Given the description of an element on the screen output the (x, y) to click on. 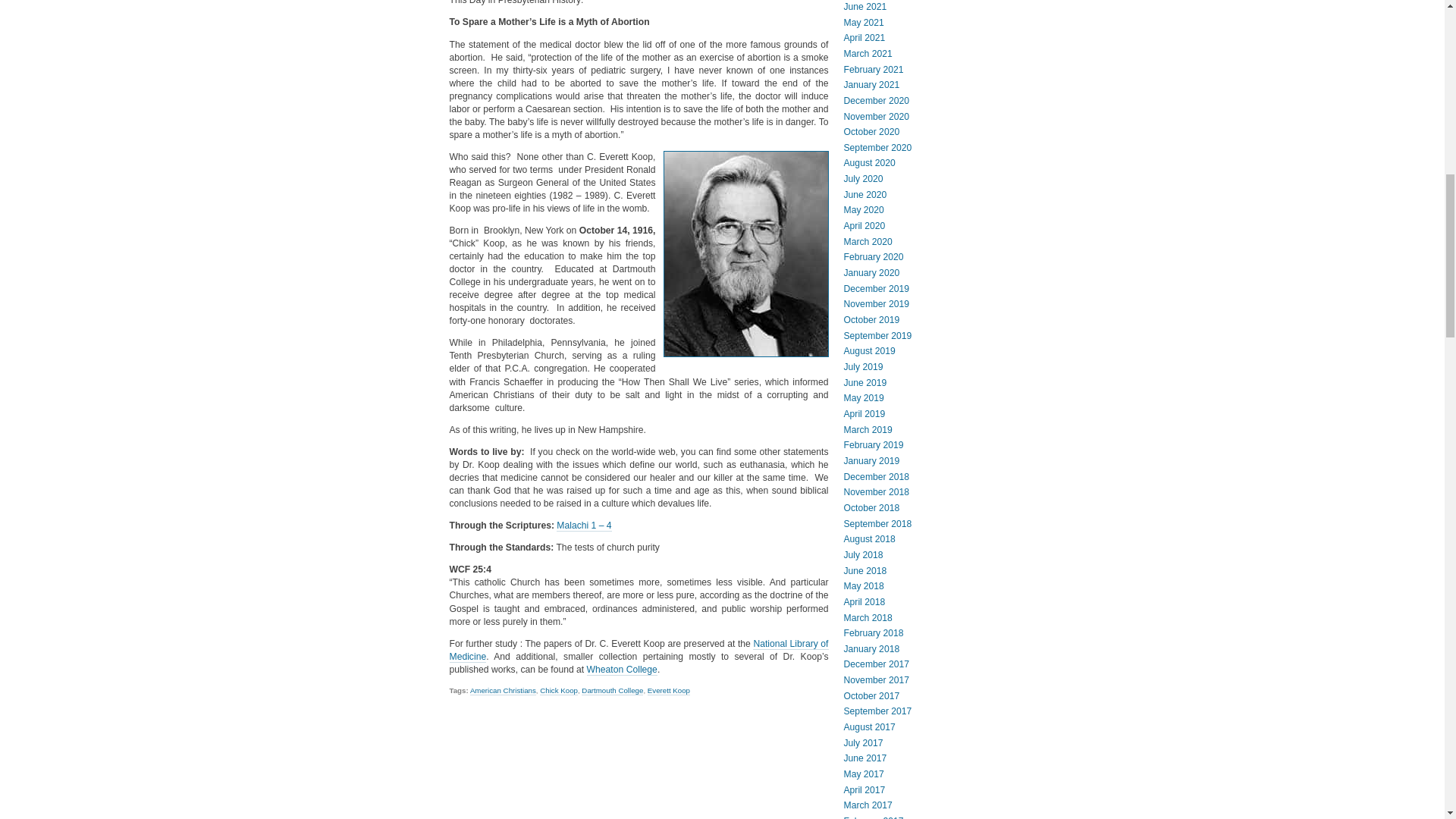
The C. Everett Koop Papers (638, 650)
Dartmouth College (611, 690)
C. Everett Koop Papers, 1968-1999 (622, 669)
Chick Koop (559, 690)
Wheaton College (622, 669)
Everett Koop (668, 690)
American Christians (502, 690)
National Library of Medicine (638, 650)
